Given the description of an element on the screen output the (x, y) to click on. 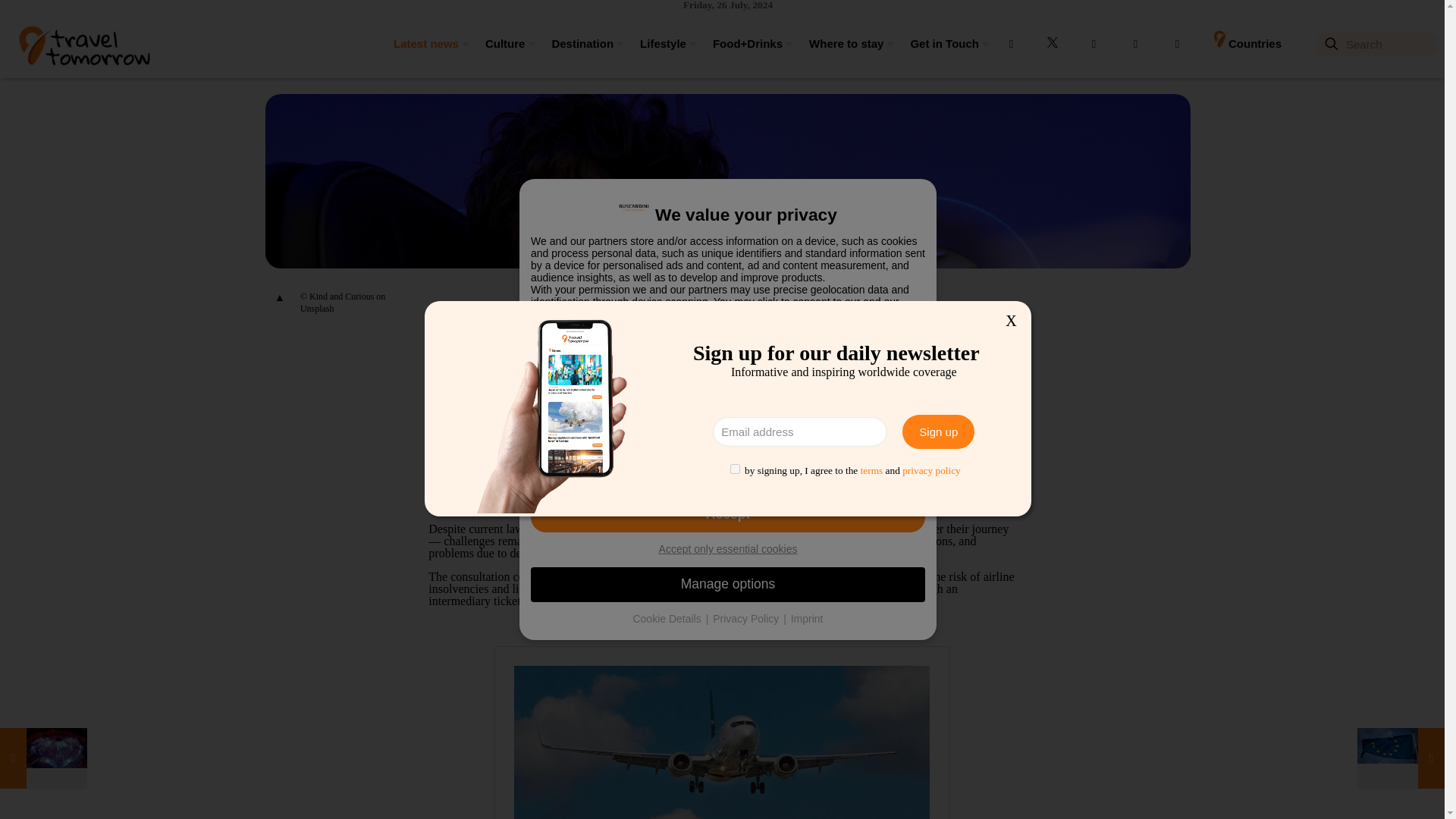
Travel Tomorrow (83, 43)
Share on Facebook (826, 343)
Culture (503, 43)
1 (734, 469)
Destination (579, 43)
Sign up (938, 430)
Lifestyle (660, 43)
Share on LinkedIn (880, 343)
Latest news (424, 43)
Share on Email (906, 343)
Share on Twitter (853, 343)
Share on WhatsApp (932, 343)
